Given the description of an element on the screen output the (x, y) to click on. 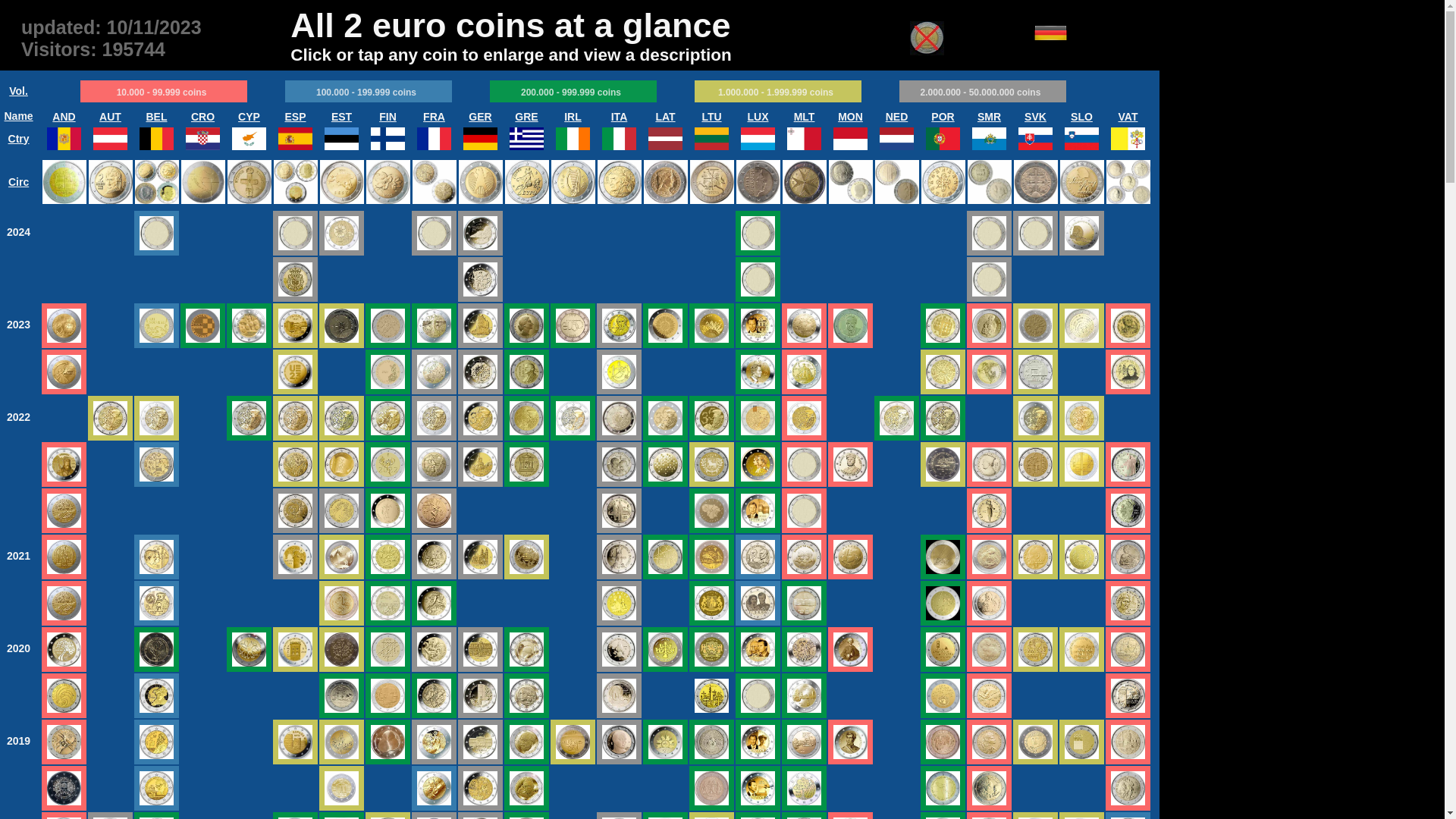
LUX Element type: text (757, 116)
NED Element type: text (896, 116)
ESP Element type: text (294, 116)
ITA Element type: text (619, 116)
SLO Element type: text (1081, 116)
Vol. Element type: text (18, 90)
POR Element type: text (942, 116)
AND Element type: text (63, 116)
Circ Element type: text (18, 181)
MON Element type: text (849, 116)
CYP Element type: text (249, 116)
Name Element type: text (18, 115)
CRO Element type: text (202, 116)
VAT Element type: text (1128, 116)
Ctry Element type: text (18, 137)
BEL Element type: text (155, 116)
LTU Element type: text (711, 116)
IRL Element type: text (572, 116)
SMR Element type: text (989, 116)
AUT Element type: text (110, 116)
195744 Element type: text (133, 48)
MLT Element type: text (804, 116)
GRE Element type: text (525, 116)
FRA Element type: text (434, 116)
GER Element type: text (479, 116)
EST Element type: text (341, 116)
FIN Element type: text (387, 116)
LAT Element type: text (664, 116)
SVK Element type: text (1035, 116)
